Given the description of an element on the screen output the (x, y) to click on. 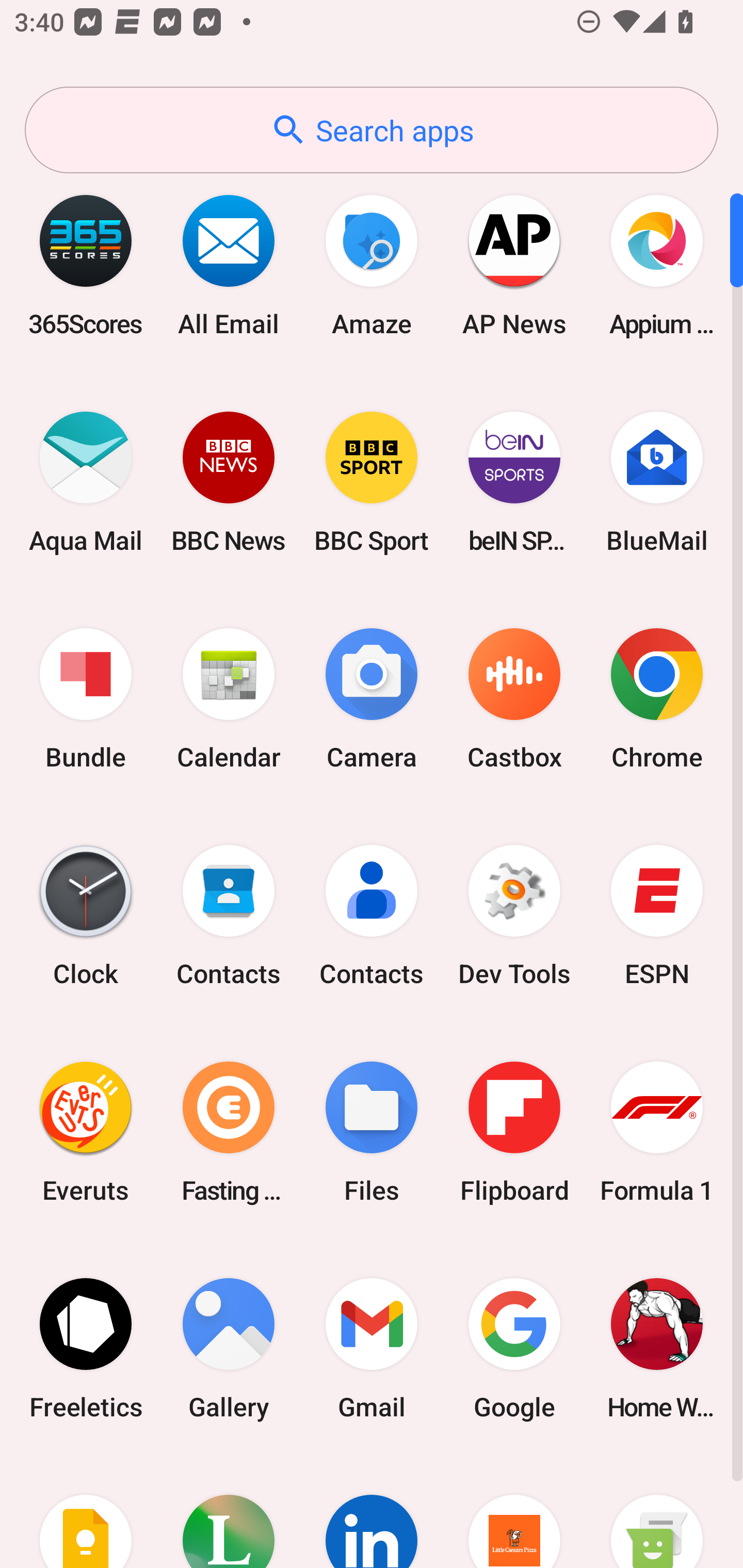
  Search apps (371, 130)
365Scores (85, 264)
All Email (228, 264)
Amaze (371, 264)
AP News (514, 264)
Appium Settings (656, 264)
Aqua Mail (85, 482)
BBC News (228, 482)
BBC Sport (371, 482)
beIN SPORTS (514, 482)
BlueMail (656, 482)
Bundle (85, 699)
Calendar (228, 699)
Camera (371, 699)
Castbox (514, 699)
Chrome (656, 699)
Clock (85, 915)
Contacts (228, 915)
Contacts (371, 915)
Dev Tools (514, 915)
ESPN (656, 915)
Everuts (85, 1131)
Fasting Coach (228, 1131)
Files (371, 1131)
Flipboard (514, 1131)
Formula 1 (656, 1131)
Freeletics (85, 1348)
Gallery (228, 1348)
Gmail (371, 1348)
Google (514, 1348)
Home Workout (656, 1348)
Keep Notes (85, 1512)
Lifesum (228, 1512)
LinkedIn (371, 1512)
Little Caesars Pizza (514, 1512)
Messaging (656, 1512)
